Given the description of an element on the screen output the (x, y) to click on. 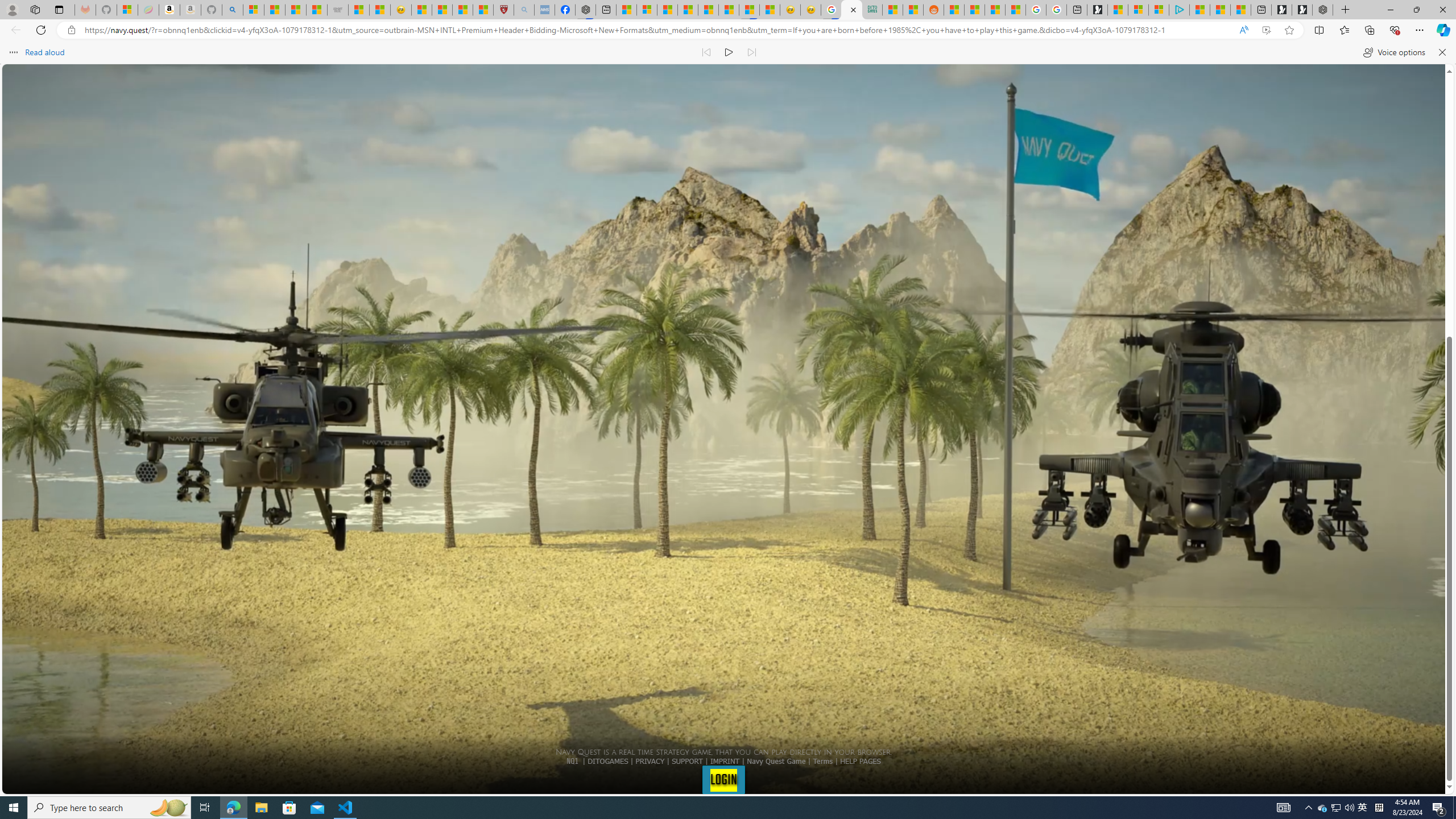
Enhance video (1266, 29)
SUPPORT (687, 760)
